Given the description of an element on the screen output the (x, y) to click on. 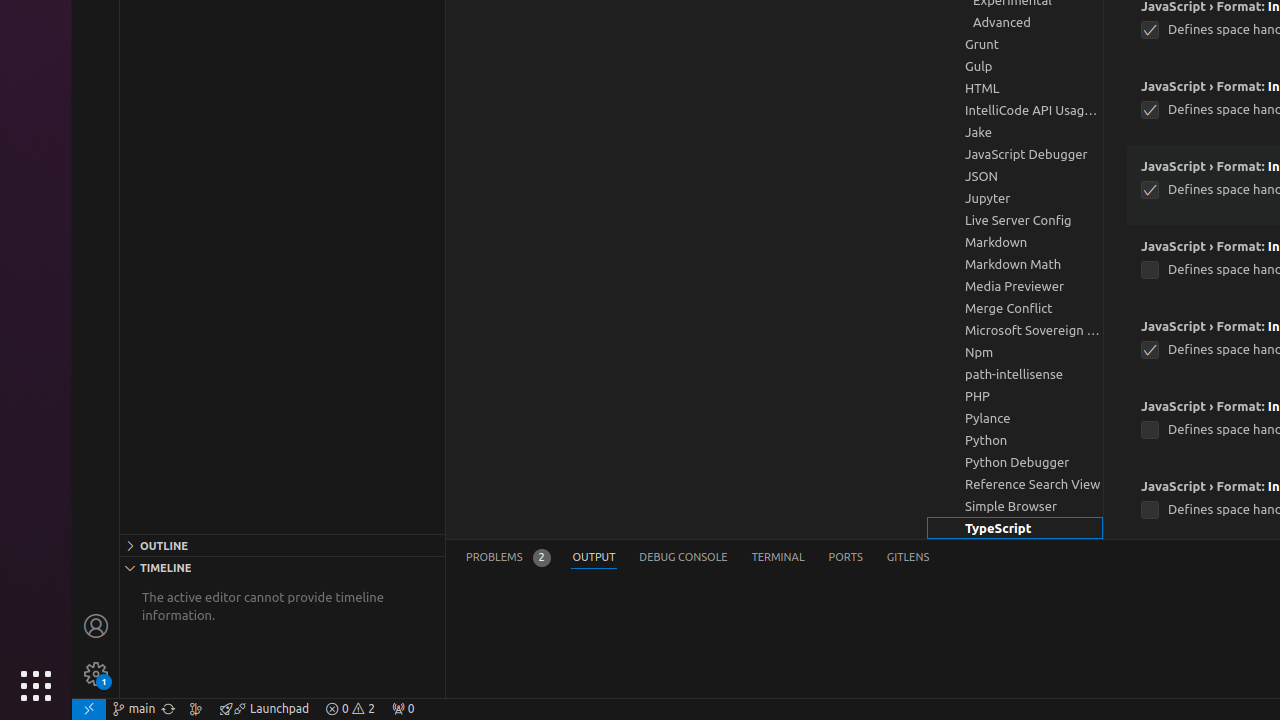
Accounts Element type: push-button (96, 626)
Ports Element type: page-tab (845, 557)
Jake, group Element type: tree-item (1015, 132)
Outline Section Element type: push-button (282, 545)
